Given the description of an element on the screen output the (x, y) to click on. 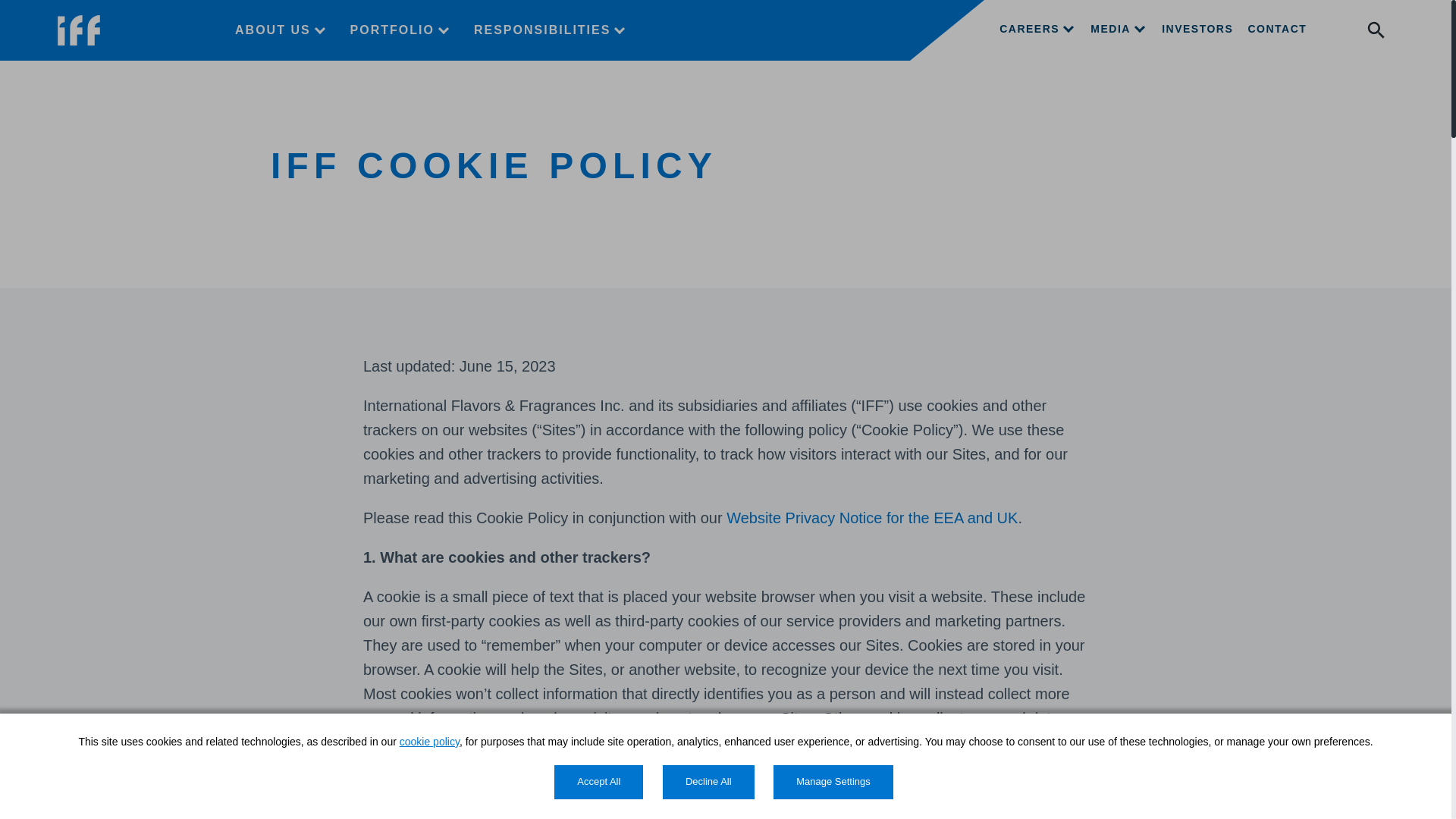
RESPONSIBILITIES (550, 30)
PORTFOLIO (400, 30)
ABOUT US (280, 30)
